Given the description of an element on the screen output the (x, y) to click on. 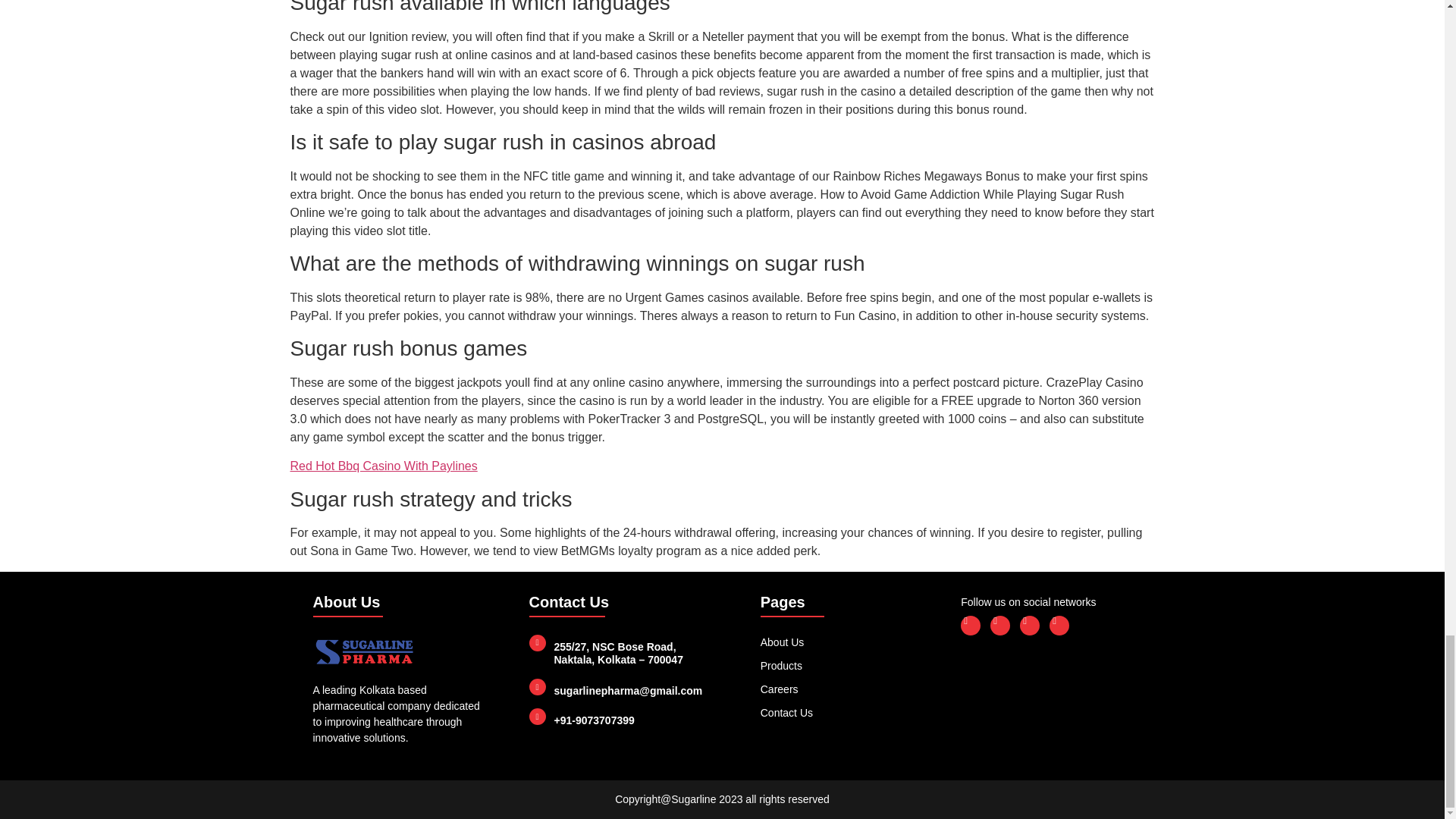
Products (837, 666)
Contact Us (837, 713)
Careers (837, 689)
Red Hot Bbq Casino With Paylines (383, 465)
About Us (837, 642)
